Given the description of an element on the screen output the (x, y) to click on. 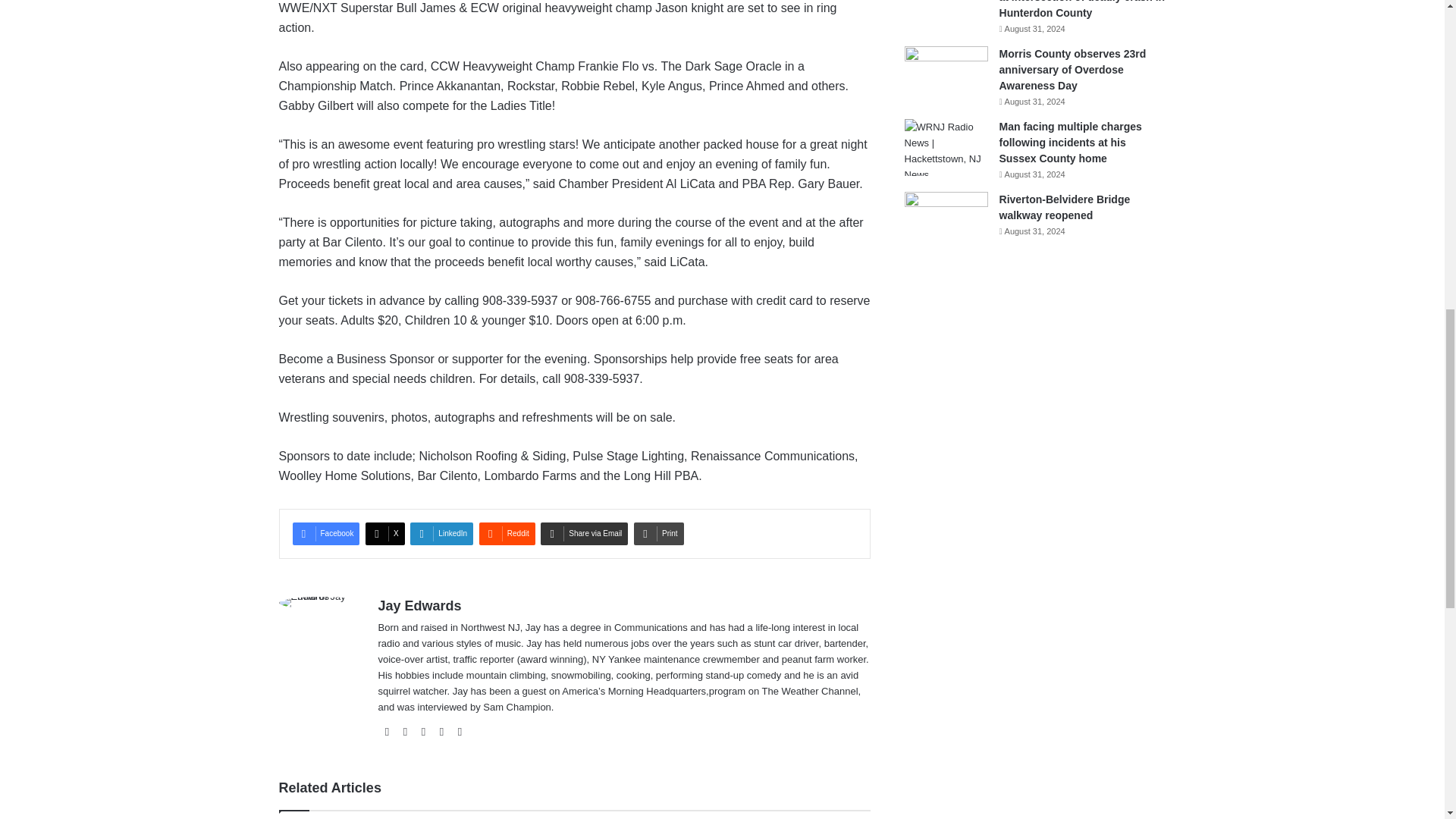
X (384, 533)
Facebook (325, 533)
Print (658, 533)
LinkedIn (441, 533)
Reddit (507, 533)
Share via Email (583, 533)
